Given the description of an element on the screen output the (x, y) to click on. 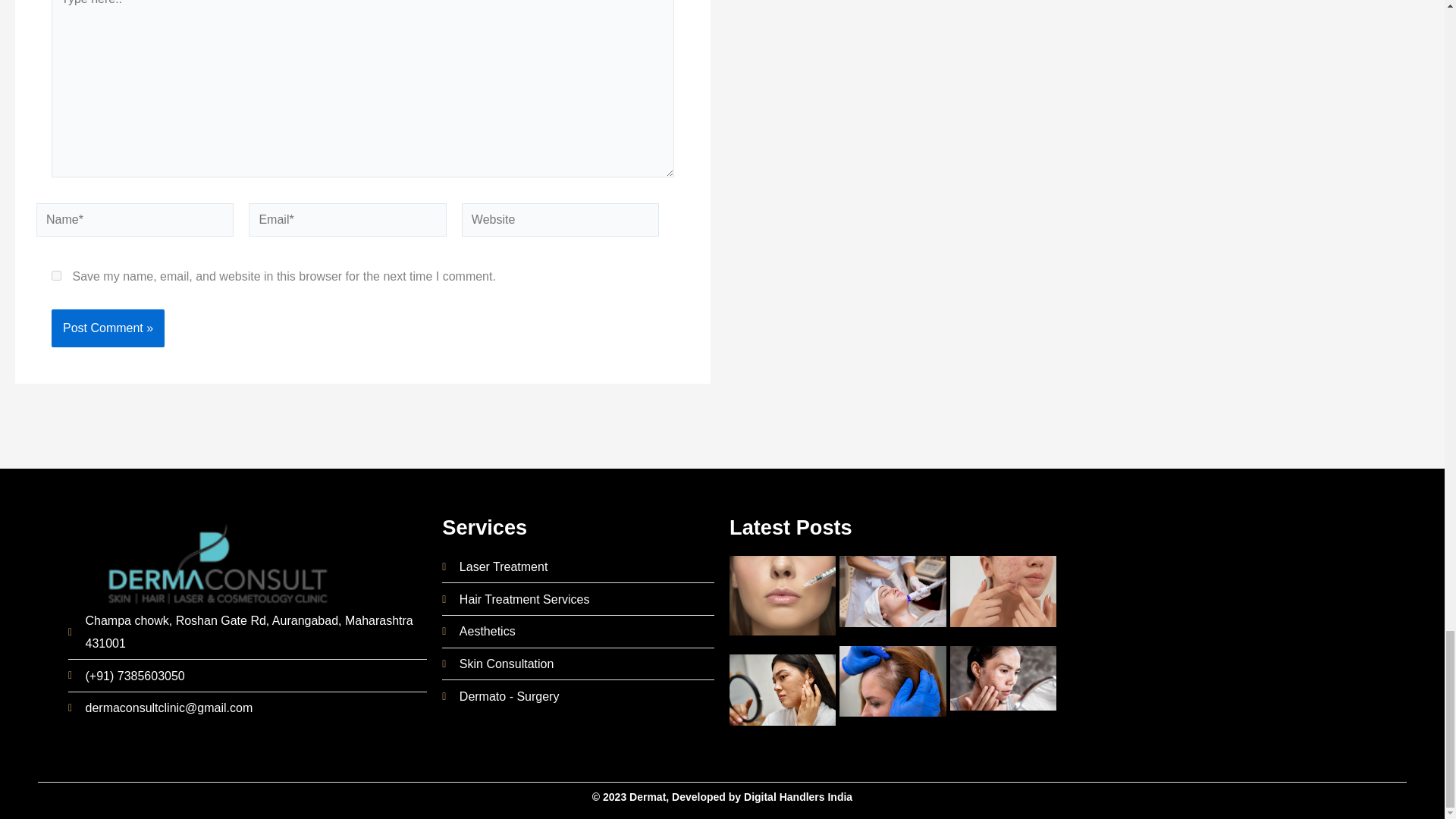
yes (55, 275)
